Given the description of an element on the screen output the (x, y) to click on. 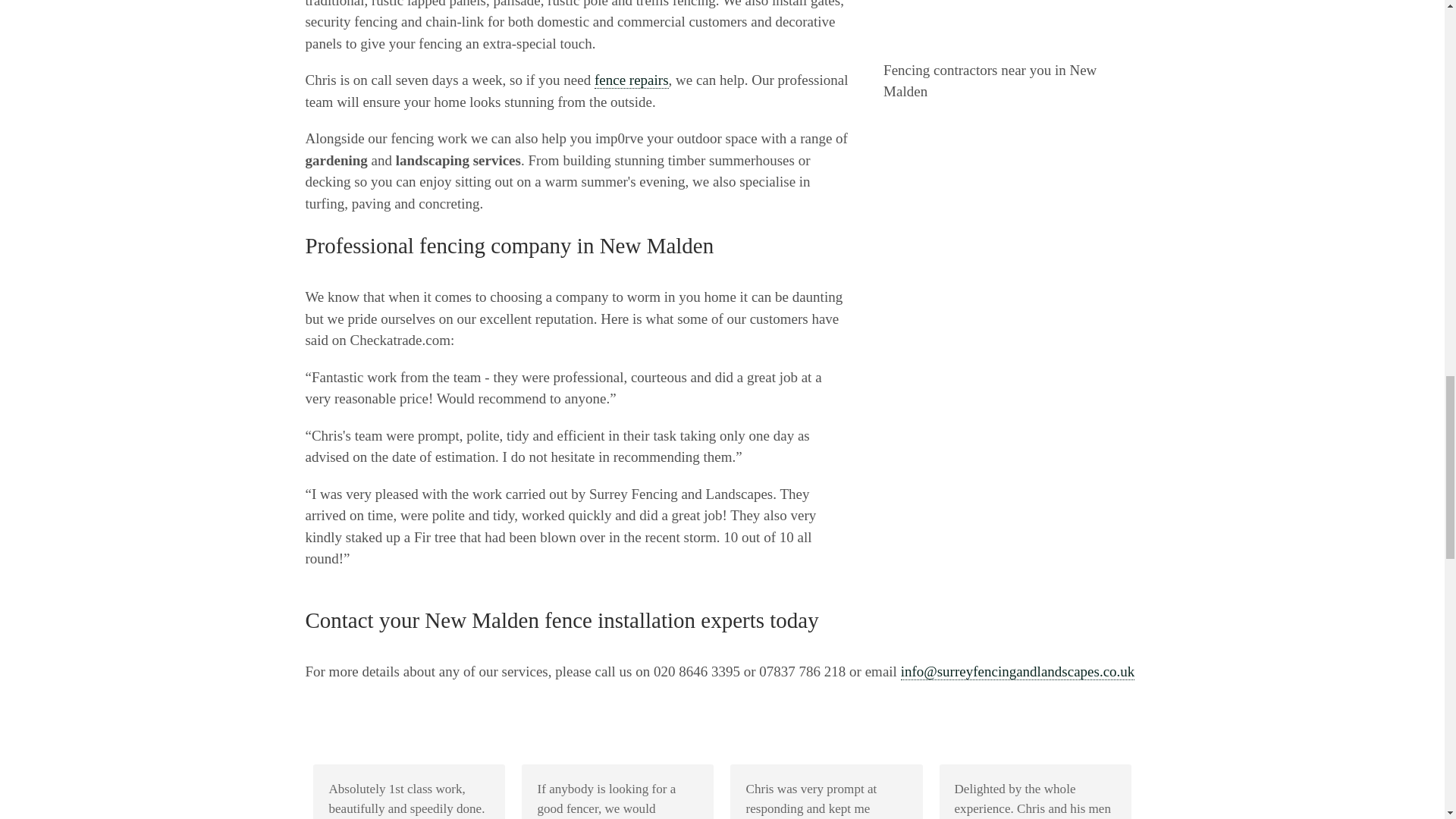
fencers covering Surrey (631, 80)
close-board-fencing-panels-surrey (1010, 24)
